Given the description of an element on the screen output the (x, y) to click on. 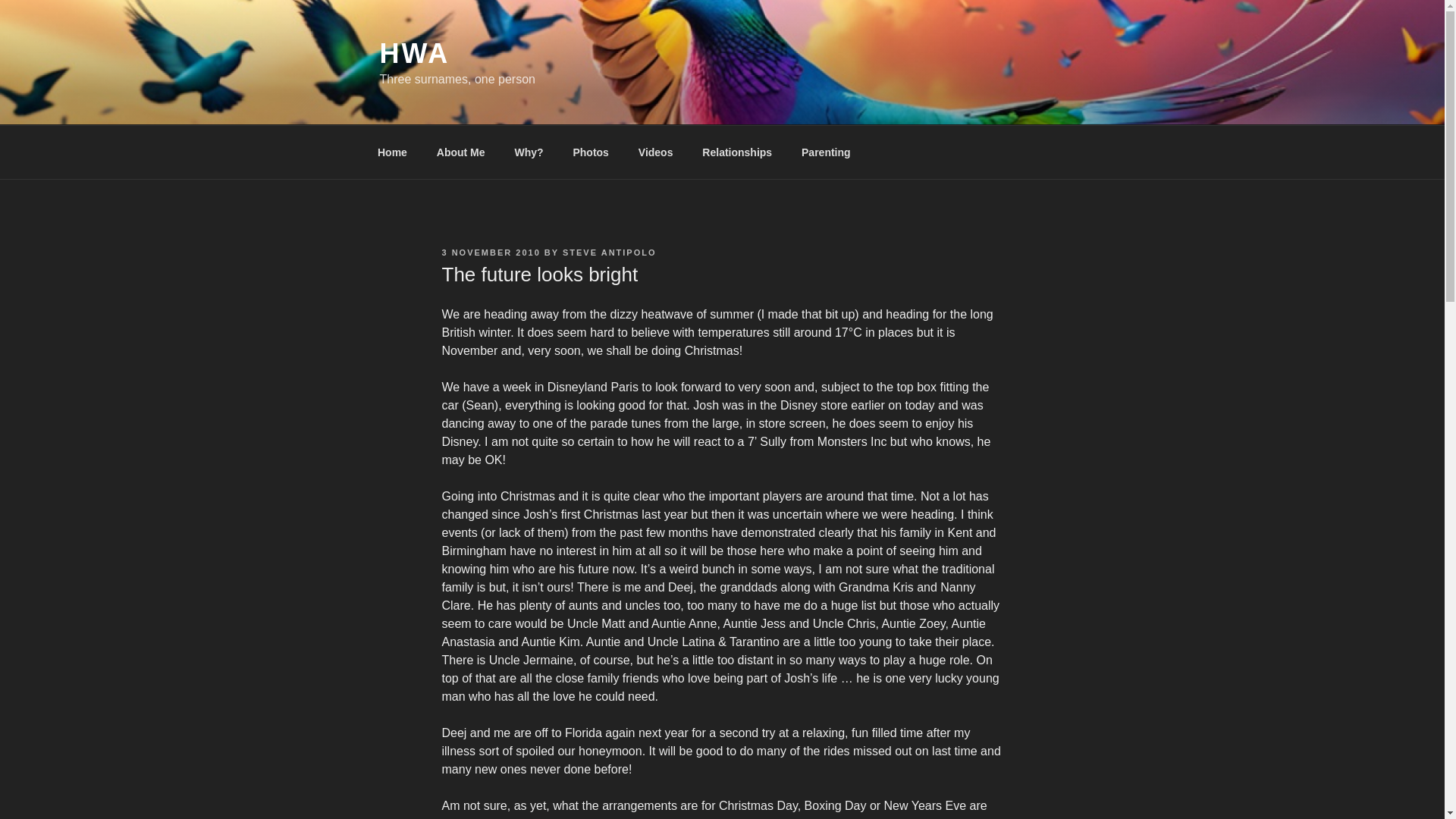
STEVE ANTIPOLO (609, 252)
Photos (590, 151)
Parenting (826, 151)
About Me (460, 151)
3 NOVEMBER 2010 (490, 252)
Home (392, 151)
Videos (654, 151)
Relationships (737, 151)
Why? (528, 151)
HWA (413, 52)
